Given the description of an element on the screen output the (x, y) to click on. 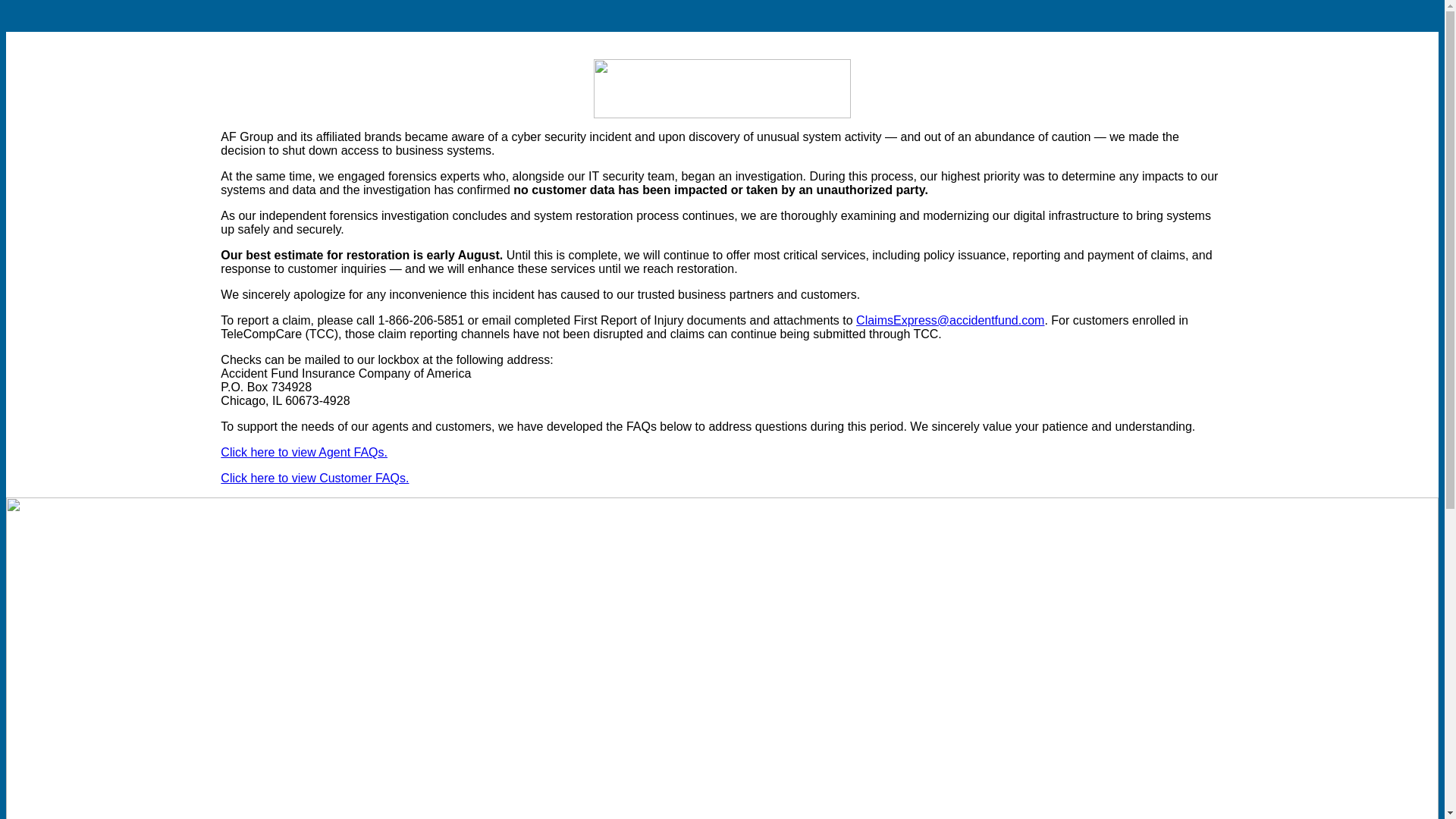
Click here to view Customer FAQs. (315, 477)
Click here to view Agent FAQs. (304, 451)
